Given the description of an element on the screen output the (x, y) to click on. 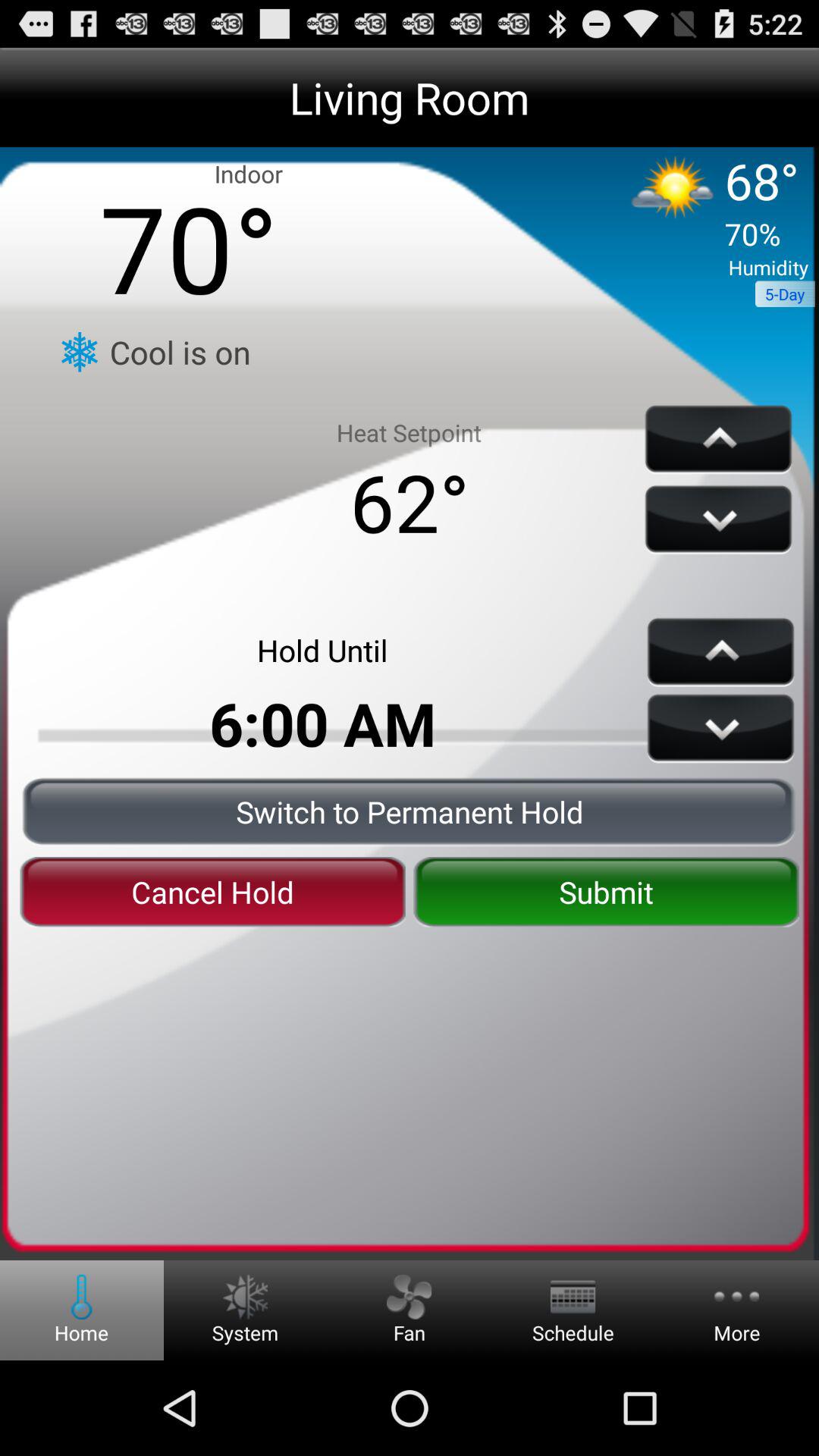
open item above the cancel hold item (409, 811)
